Given the description of an element on the screen output the (x, y) to click on. 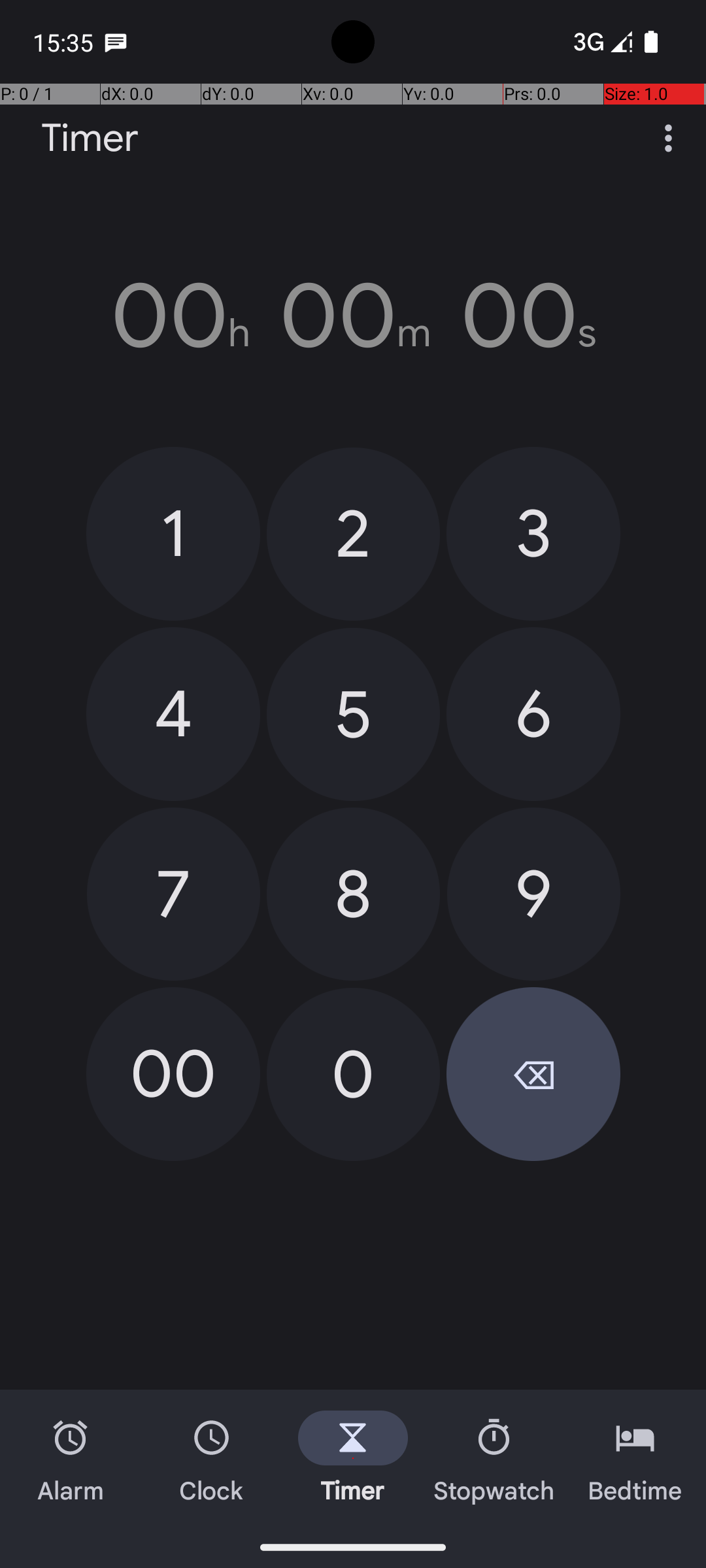
SMS Messenger notification: Freya Hernandez Element type: android.widget.ImageView (115, 41)
